Given the description of an element on the screen output the (x, y) to click on. 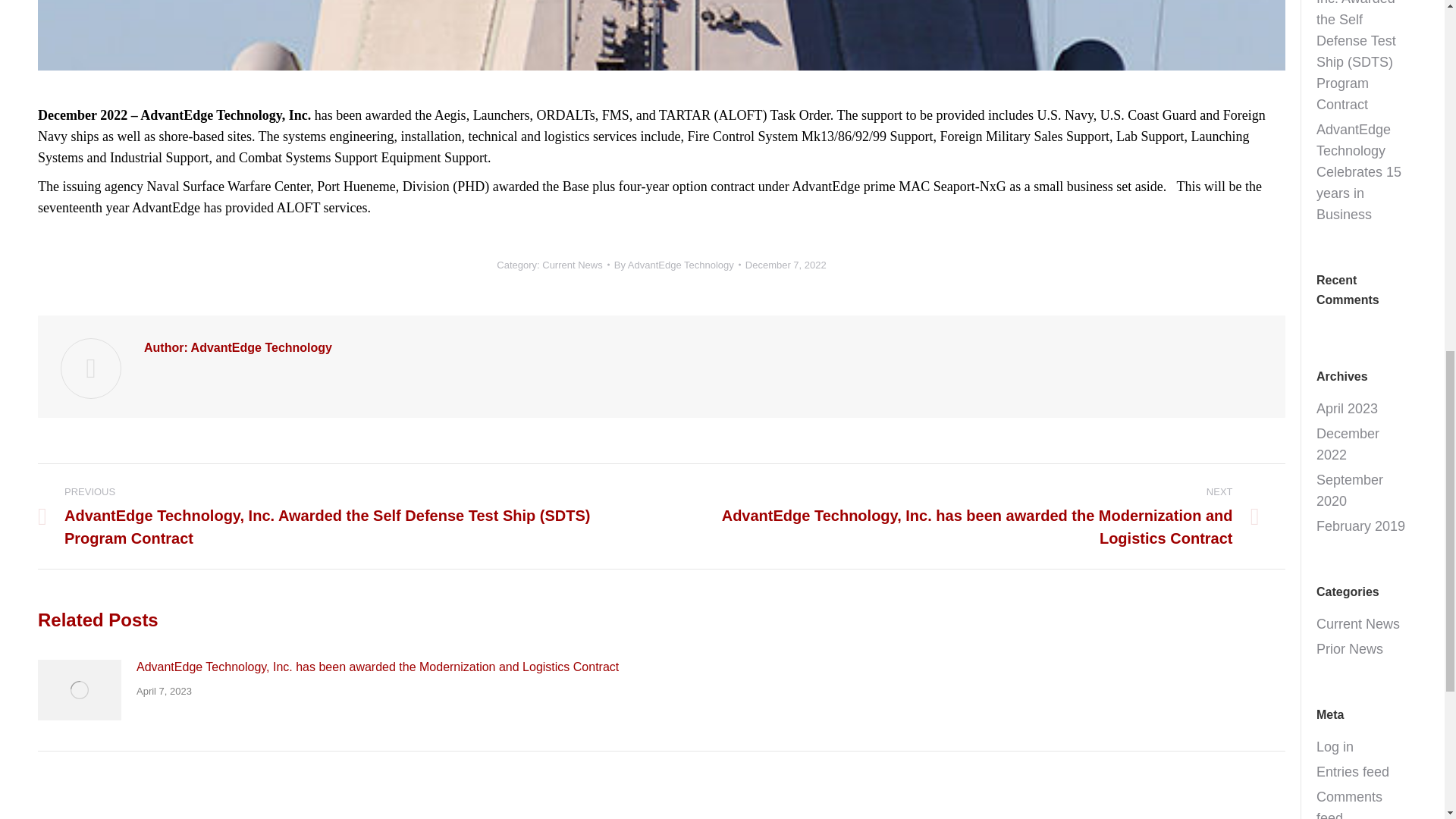
AegisRadar (661, 35)
Current News (571, 265)
By AdvantEdge Technology (677, 264)
View all posts by AdvantEdge Technology (677, 264)
7:12 pm (786, 264)
December 7, 2022 (786, 264)
